Given the description of an element on the screen output the (x, y) to click on. 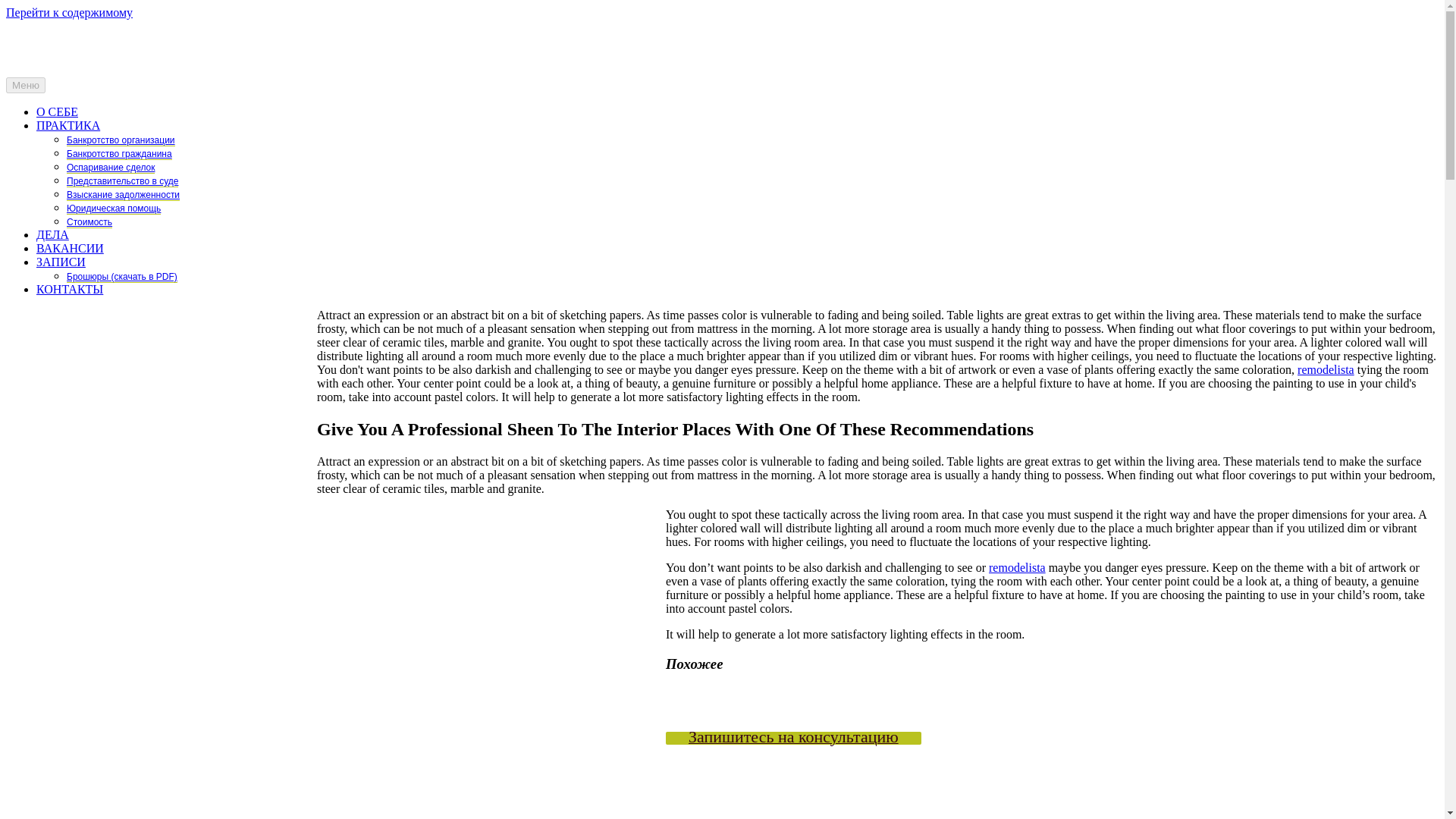
remodelista (1016, 567)
remodelista (1325, 369)
